Given the description of an element on the screen output the (x, y) to click on. 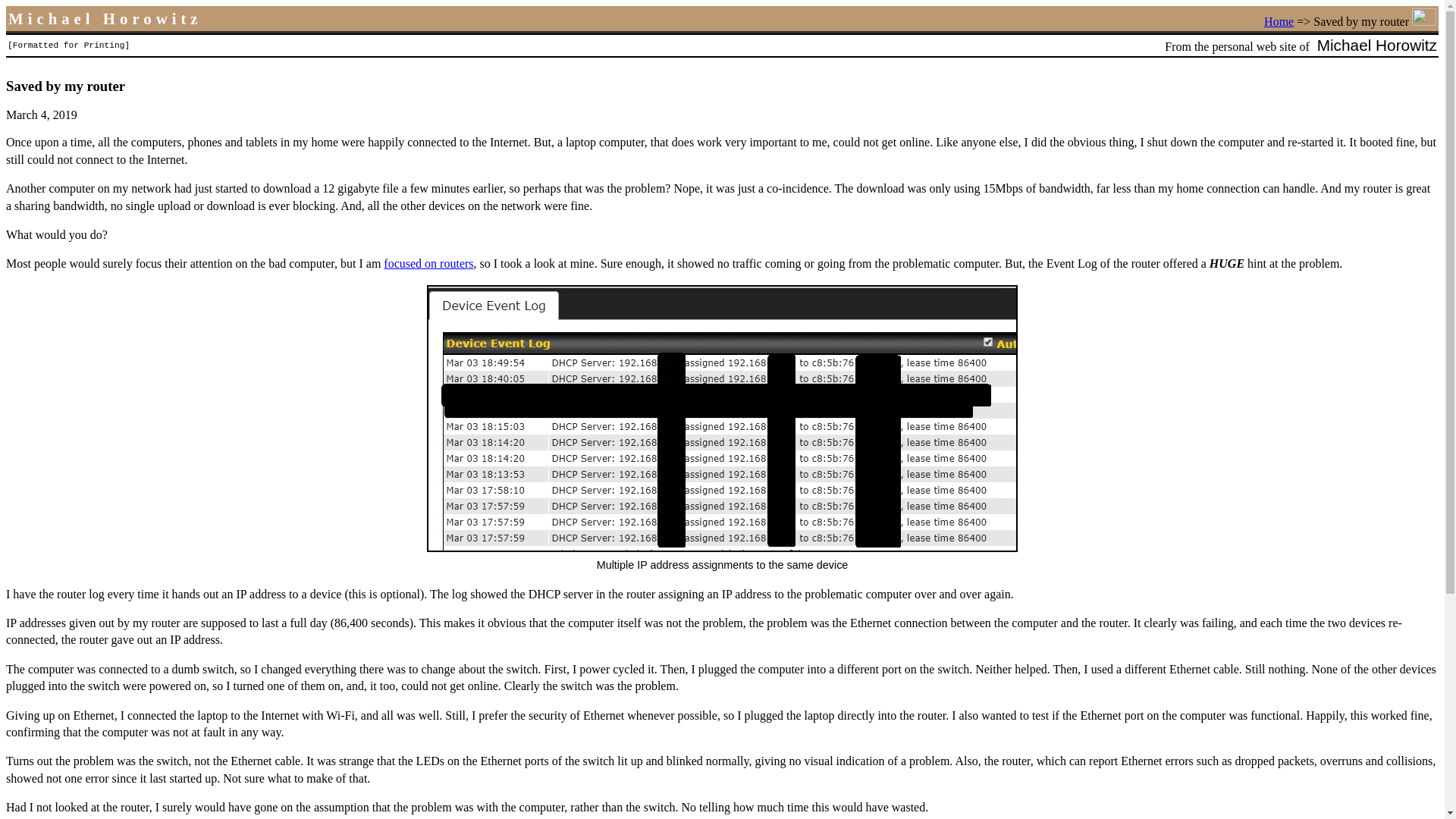
focused on routers (428, 263)
Home (1278, 21)
